Given the description of an element on the screen output the (x, y) to click on. 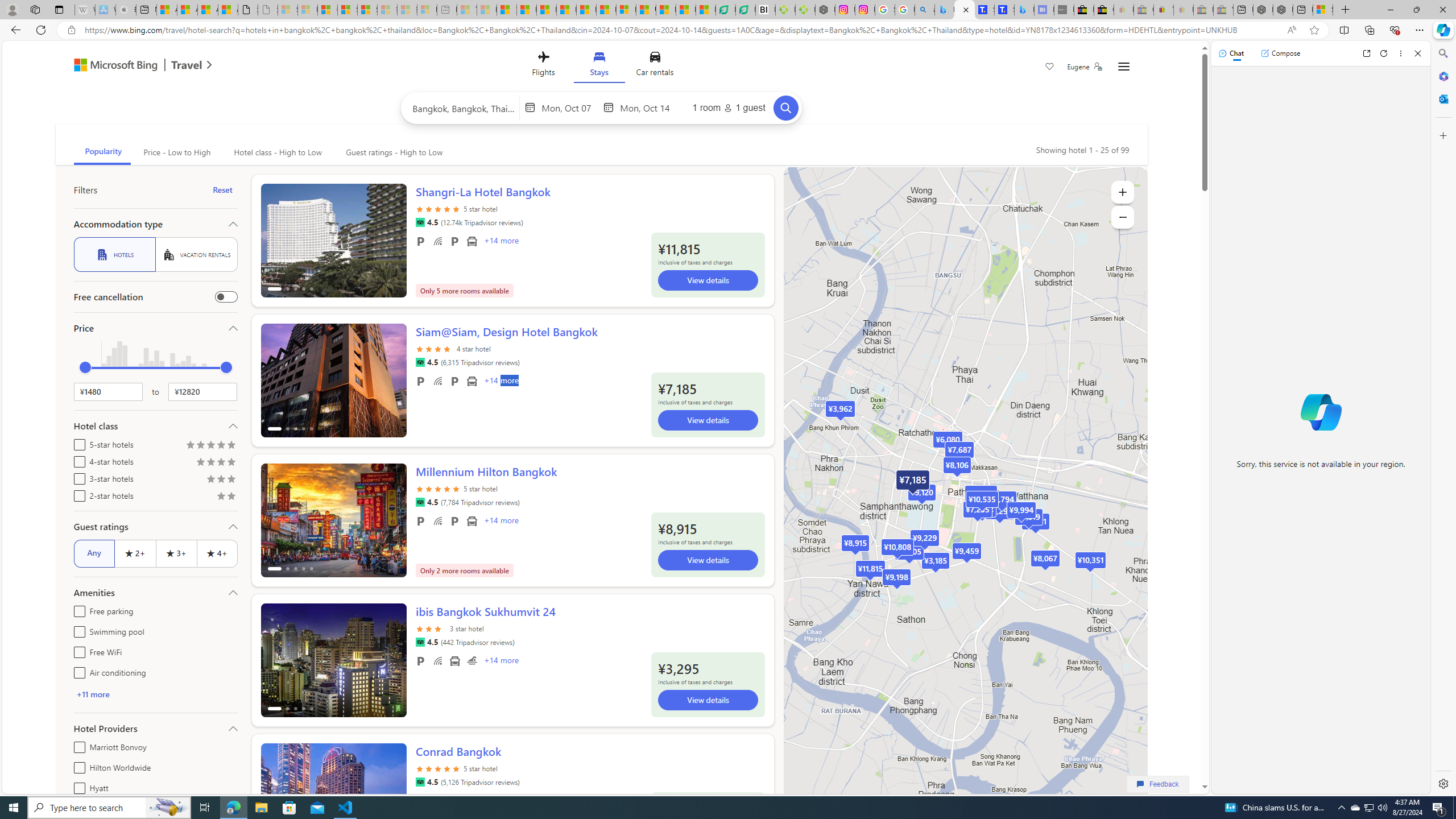
Hotel class - High to Low (277, 152)
Free parking (76, 609)
Nordace - Nordace Edin Collection (825, 9)
2-star hotels (76, 493)
Buy iPad - Apple - Sleeping (125, 9)
4-star hotels (76, 459)
Food and Drink - MSN (526, 9)
Foo BAR | Trusted Community Engagement and Contributions (606, 9)
